Given the description of an element on the screen output the (x, y) to click on. 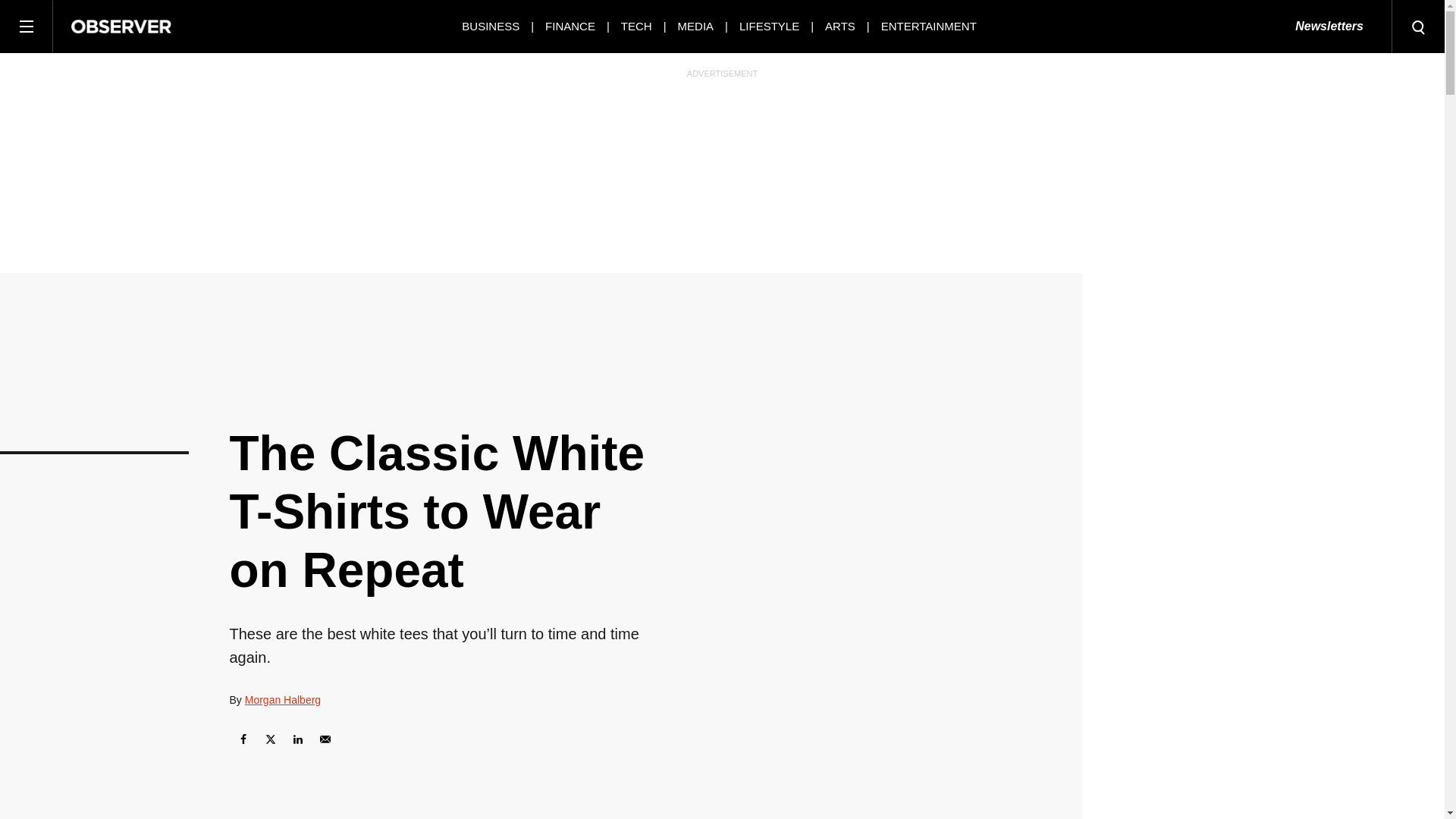
Observer (121, 26)
MEDIA (696, 25)
Share on LinkedIn (297, 738)
Tweet (269, 738)
ENTERTAINMENT (928, 25)
Share on Facebook (242, 738)
BUSINESS (490, 25)
LIFESTYLE (769, 25)
FINANCE (569, 25)
Newsletters (1329, 26)
